Given the description of an element on the screen output the (x, y) to click on. 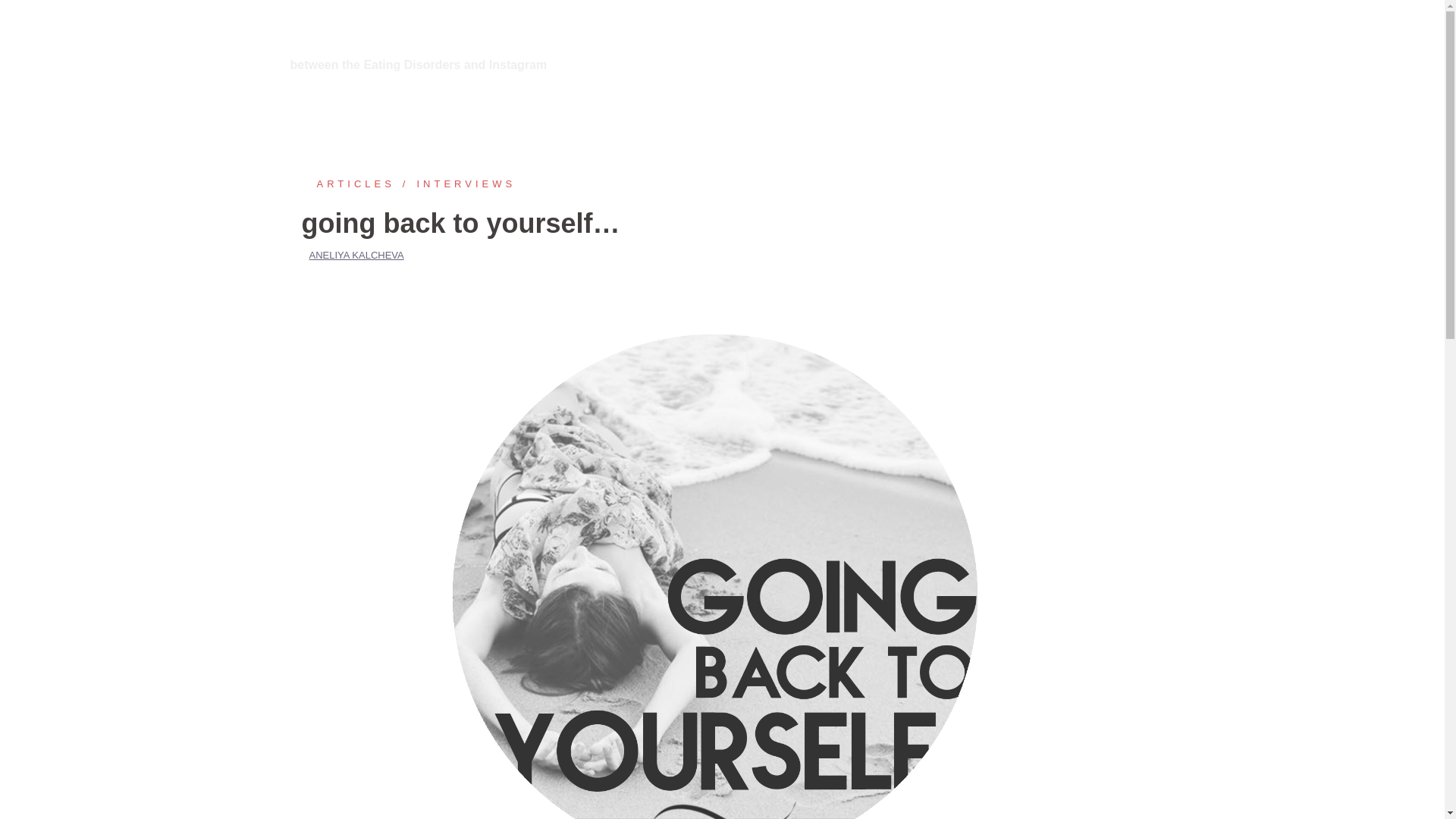
Interviews (454, 183)
HOME (921, 45)
Inside (324, 29)
INTERVIEWS (454, 183)
ANELIYA KALCHEVA (356, 255)
Articles (347, 183)
ABOUT (976, 45)
ARTICLES (347, 183)
